Given the description of an element on the screen output the (x, y) to click on. 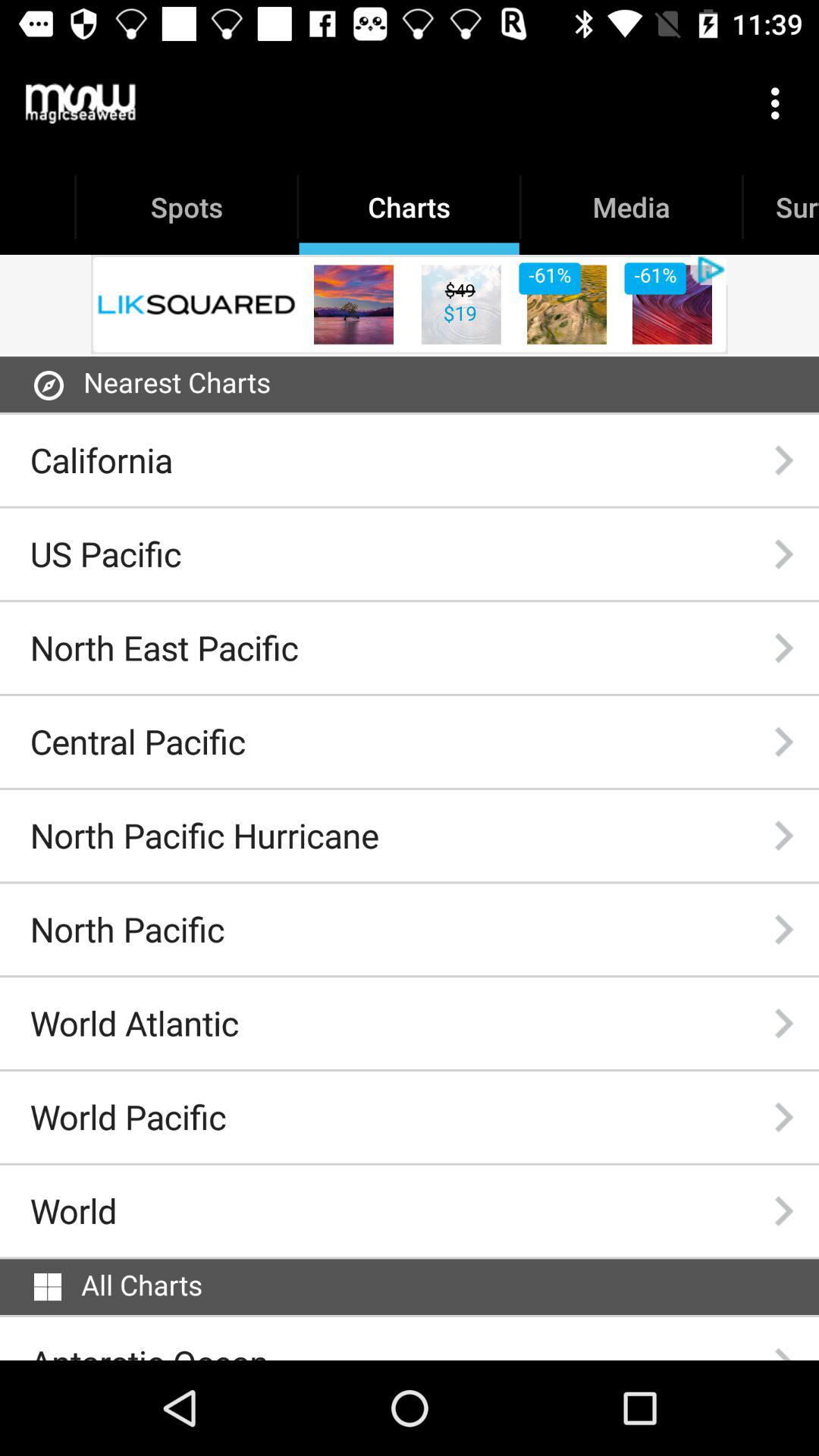
launch the item below world icon (47, 1286)
